Given the description of an element on the screen output the (x, y) to click on. 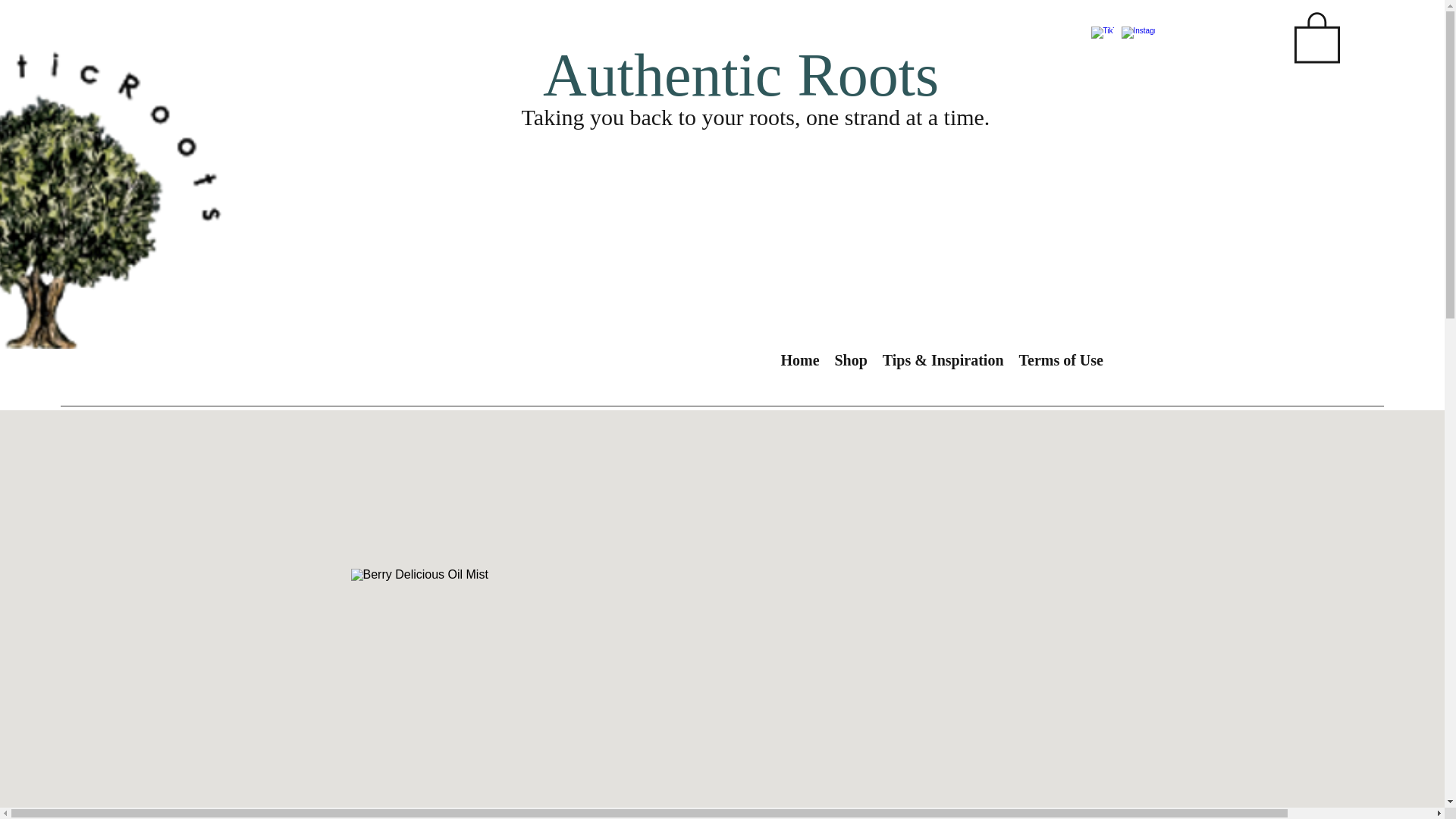
Shop (851, 360)
Terms of Use (1060, 360)
Home (800, 360)
Authentic Roots (741, 74)
